Given the description of an element on the screen output the (x, y) to click on. 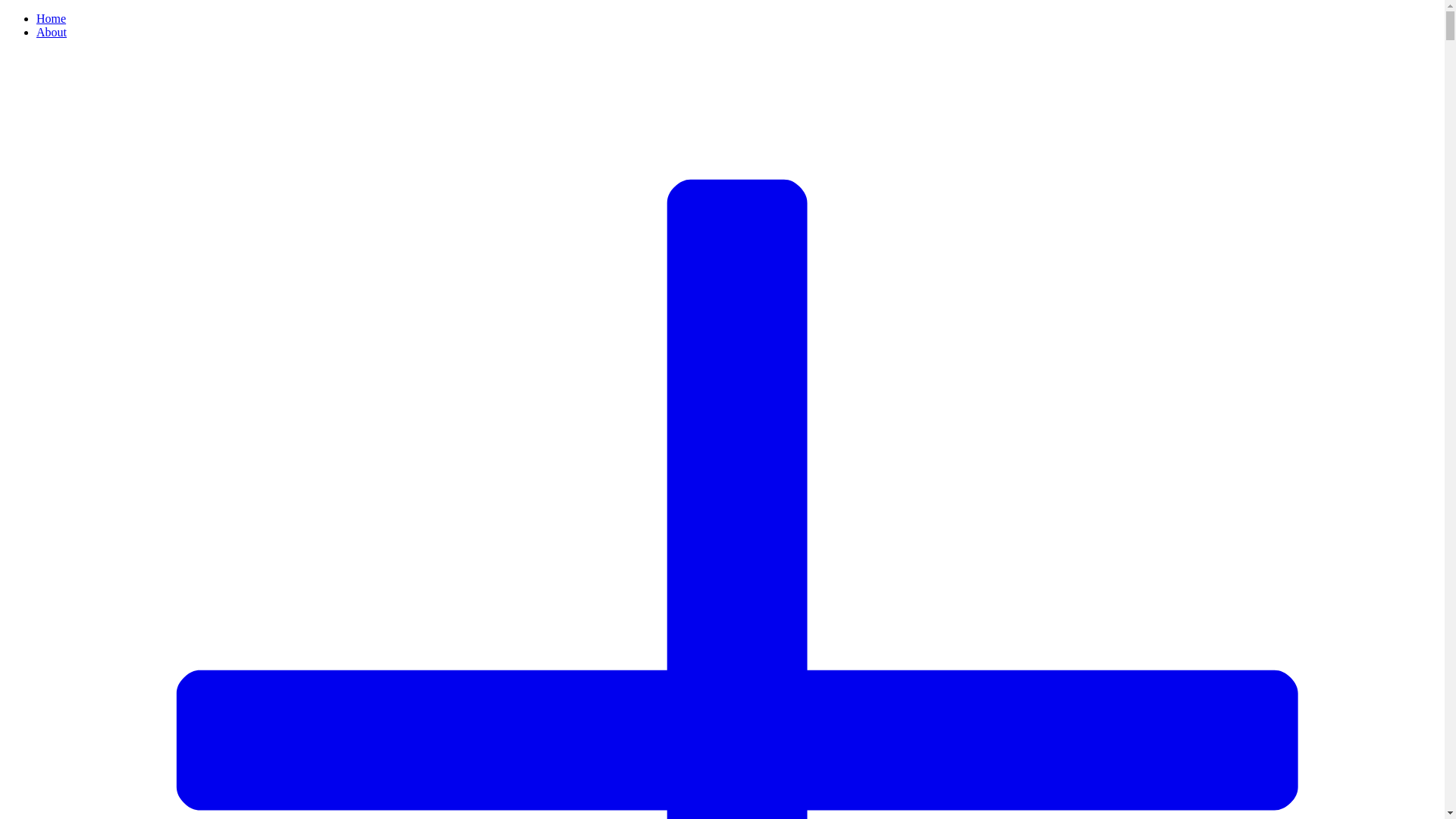
Home Element type: text (50, 18)
